Given the description of an element on the screen output the (x, y) to click on. 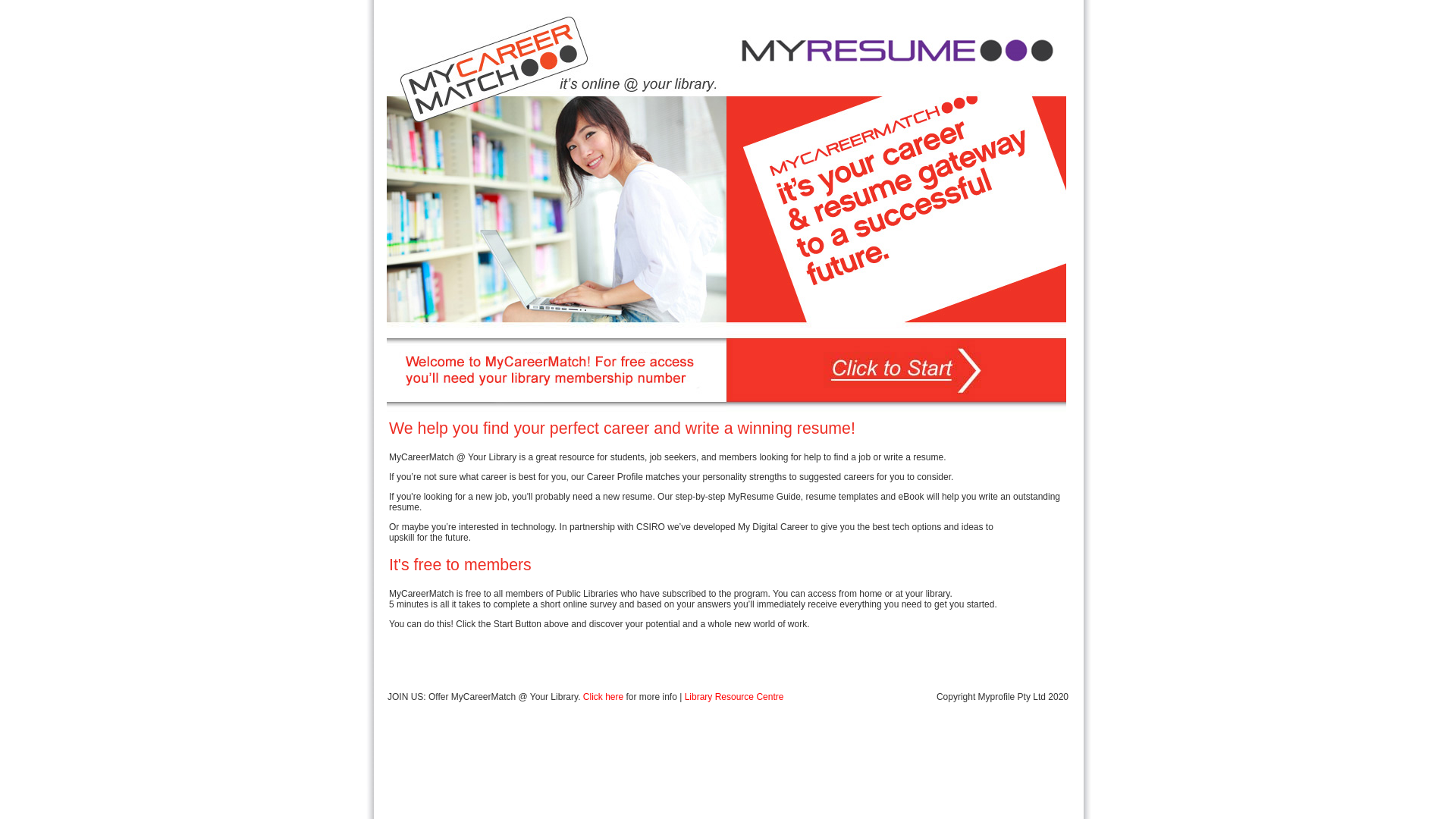
Click here Element type: text (603, 696)
Library Resource Centre Element type: text (734, 696)
